Given the description of an element on the screen output the (x, y) to click on. 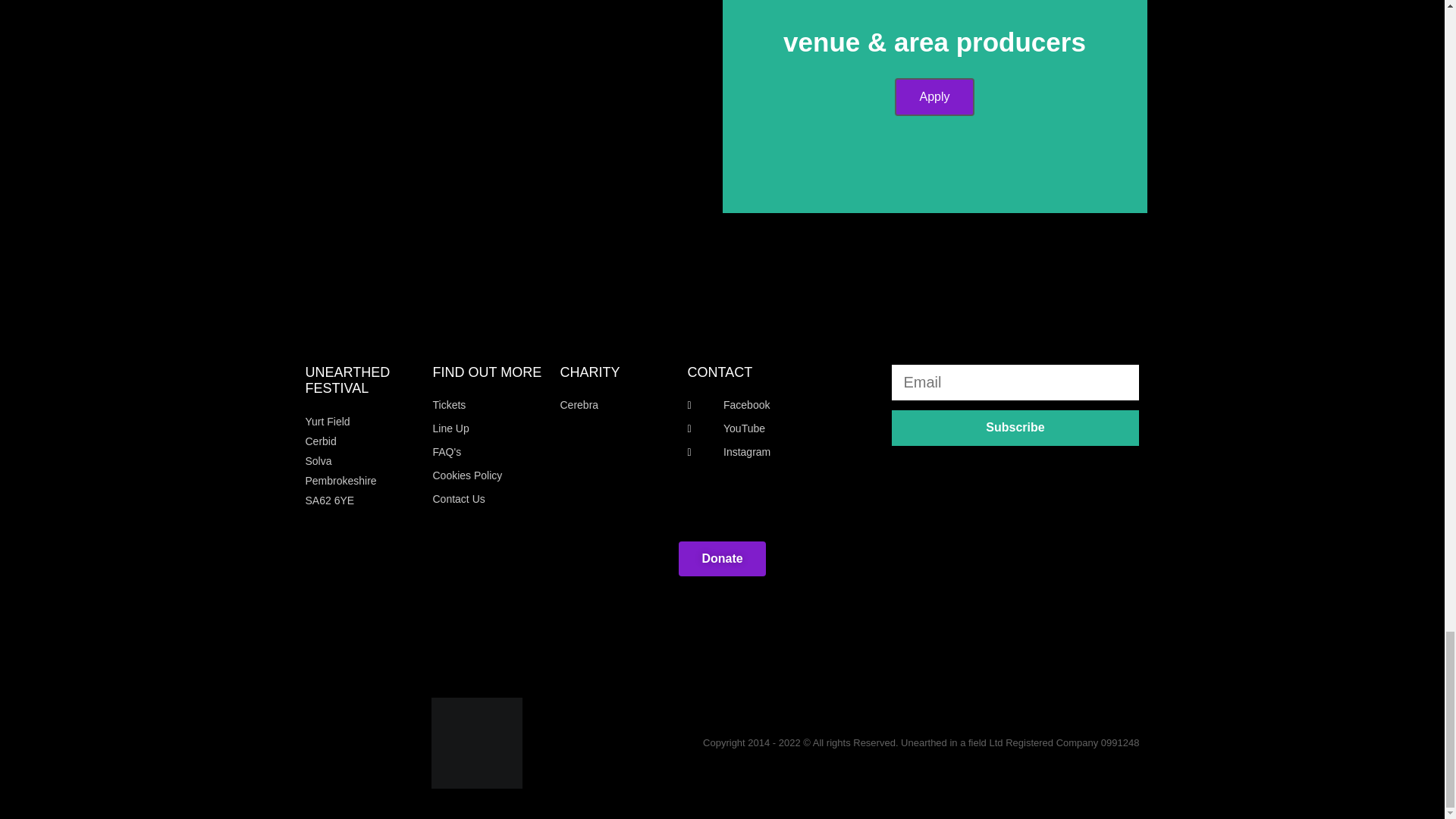
Donate (721, 558)
Instagram (781, 452)
Tickets (488, 405)
YouTube (781, 428)
Cerebra (615, 405)
Subscribe (1015, 427)
Facebook (781, 405)
Apply (934, 96)
Contact Us (488, 499)
Line Up (488, 428)
